Given the description of an element on the screen output the (x, y) to click on. 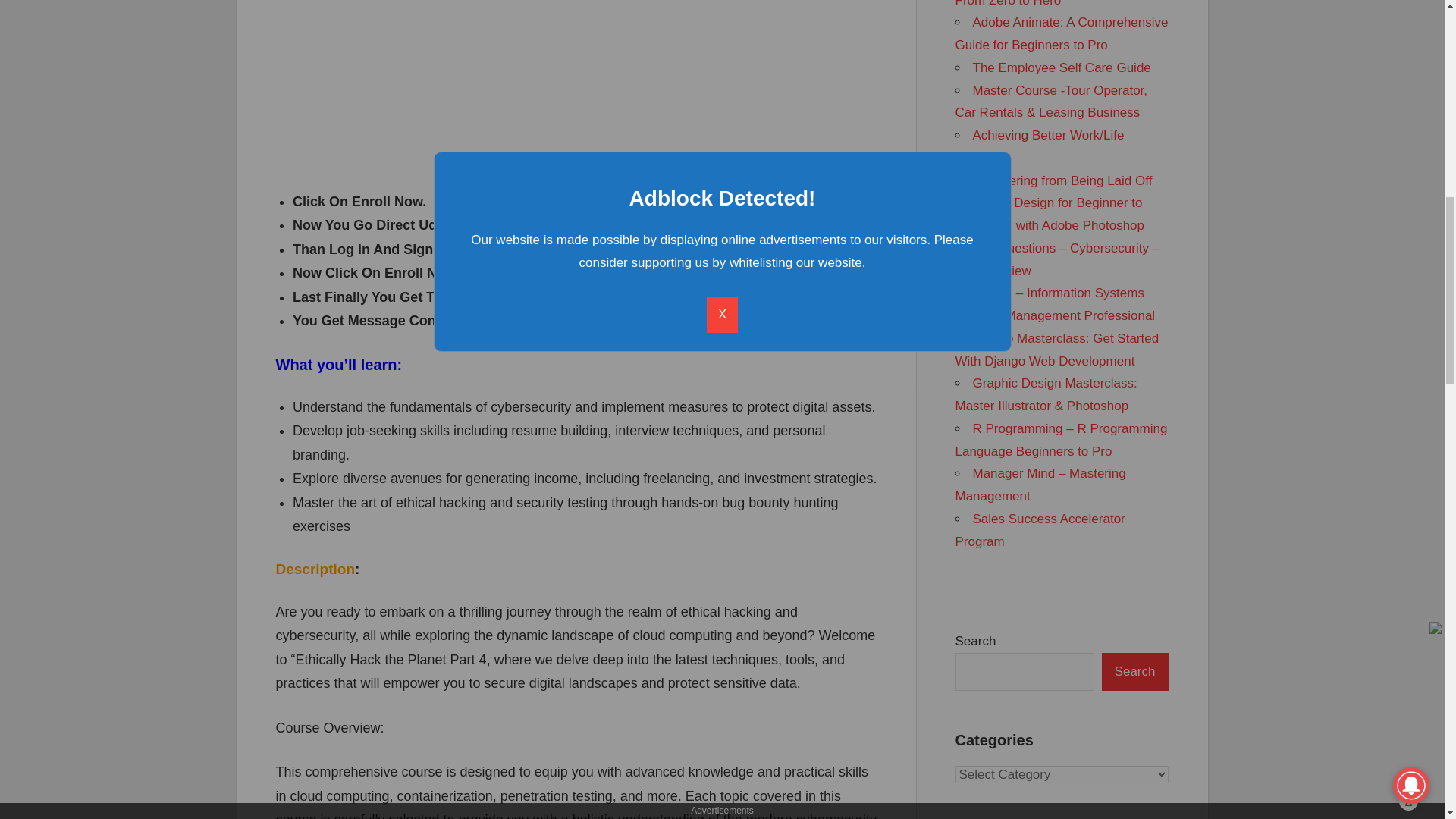
The Employee Self Care Guide (1061, 67)
The Ultimate SQL Bootcamp : Go From Zero to Hero (1059, 3)
Adobe Animate: A Comprehensive Guide for Beginners to Pro (1062, 33)
Advertisement (576, 84)
Recovering from Being Laid Off (1061, 180)
